Given the description of an element on the screen output the (x, y) to click on. 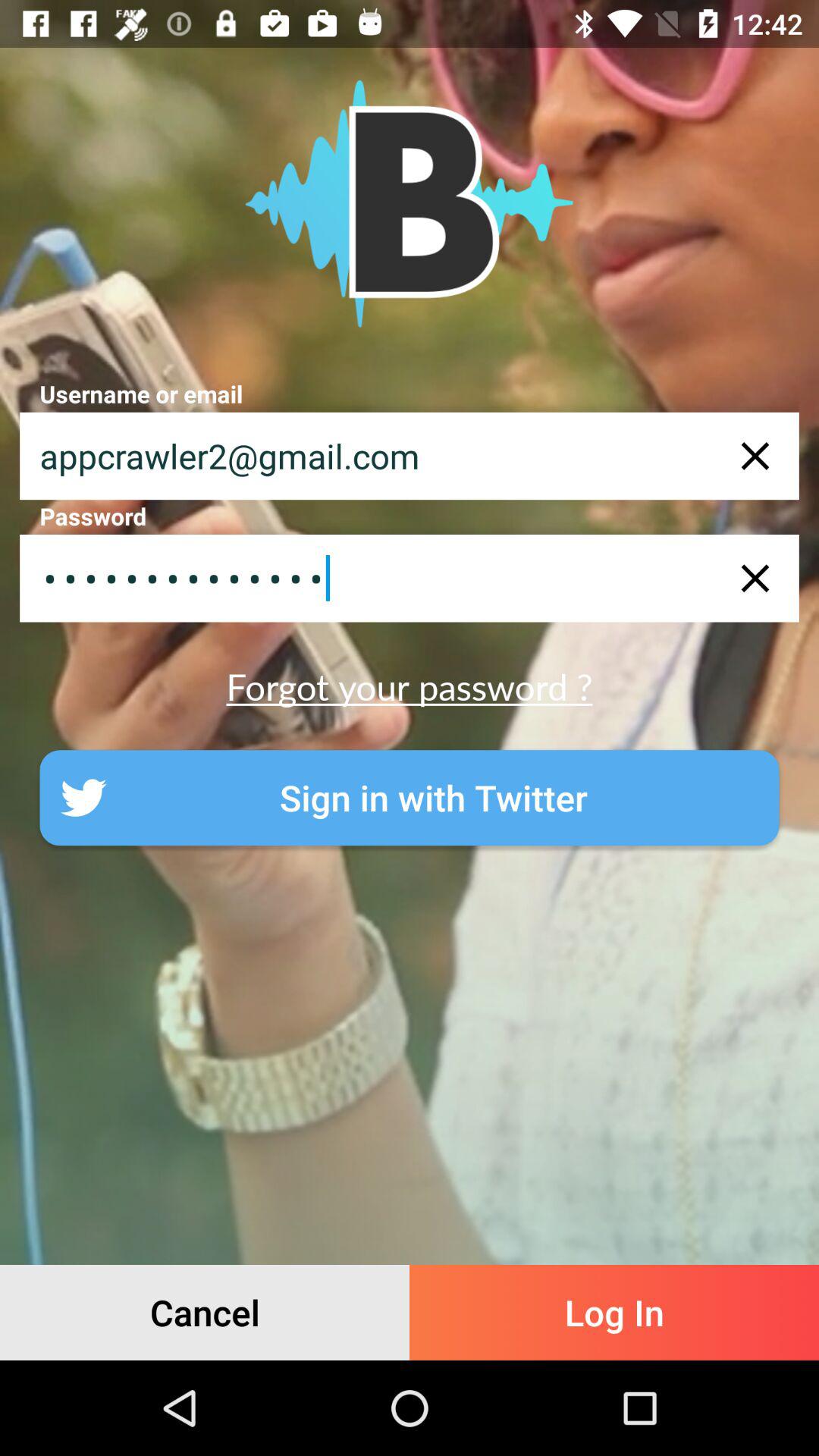
scroll until the log in icon (614, 1312)
